Given the description of an element on the screen output the (x, y) to click on. 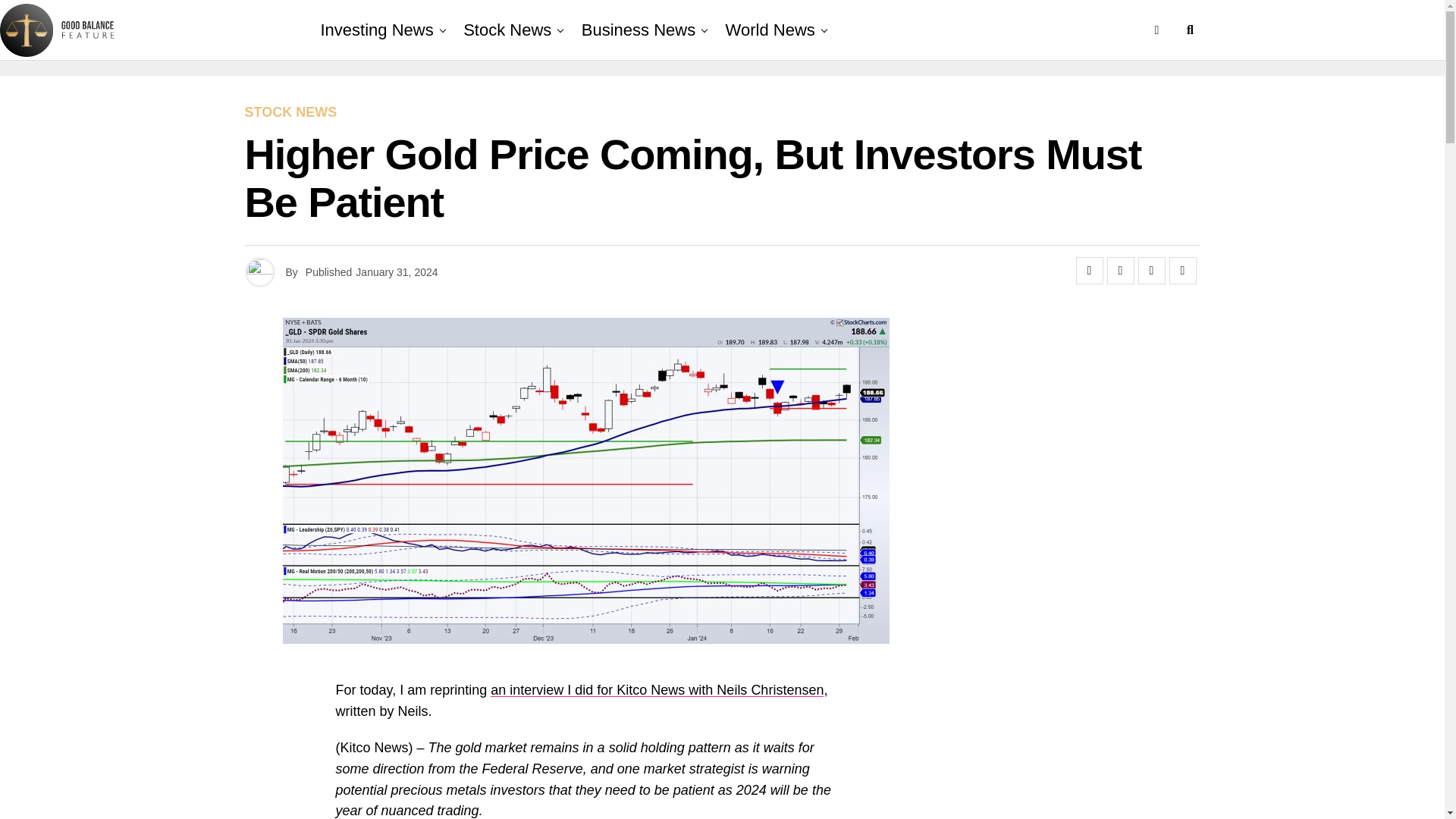
STOCK NEWS (290, 112)
Tweet This Post (1120, 270)
Stock News (507, 30)
Share on Facebook (1088, 270)
Investing News (377, 30)
World News (769, 30)
Business News (638, 30)
